Given the description of an element on the screen output the (x, y) to click on. 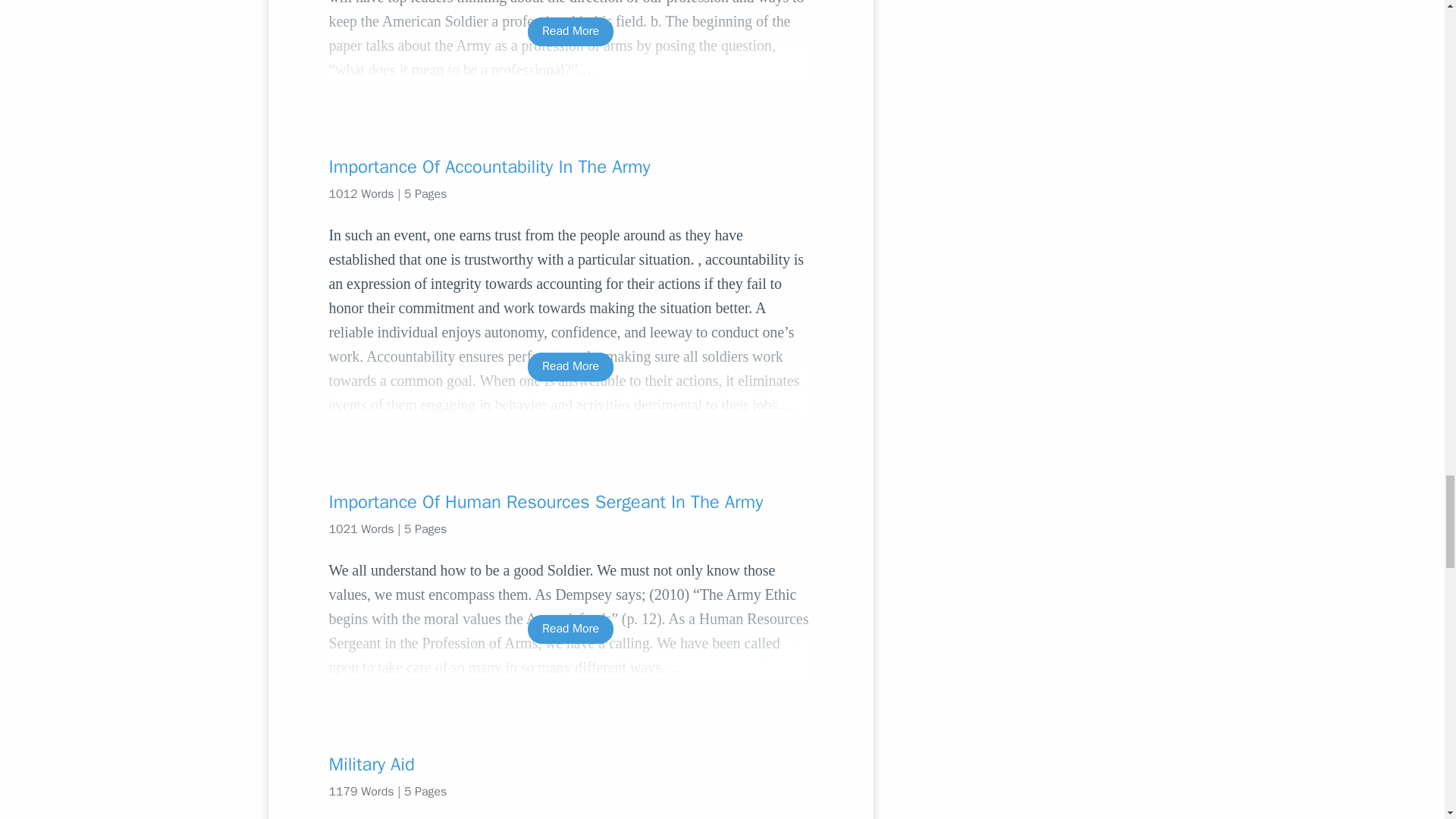
Read More (569, 31)
Importance Of Accountability In The Army (570, 166)
